Given the description of an element on the screen output the (x, y) to click on. 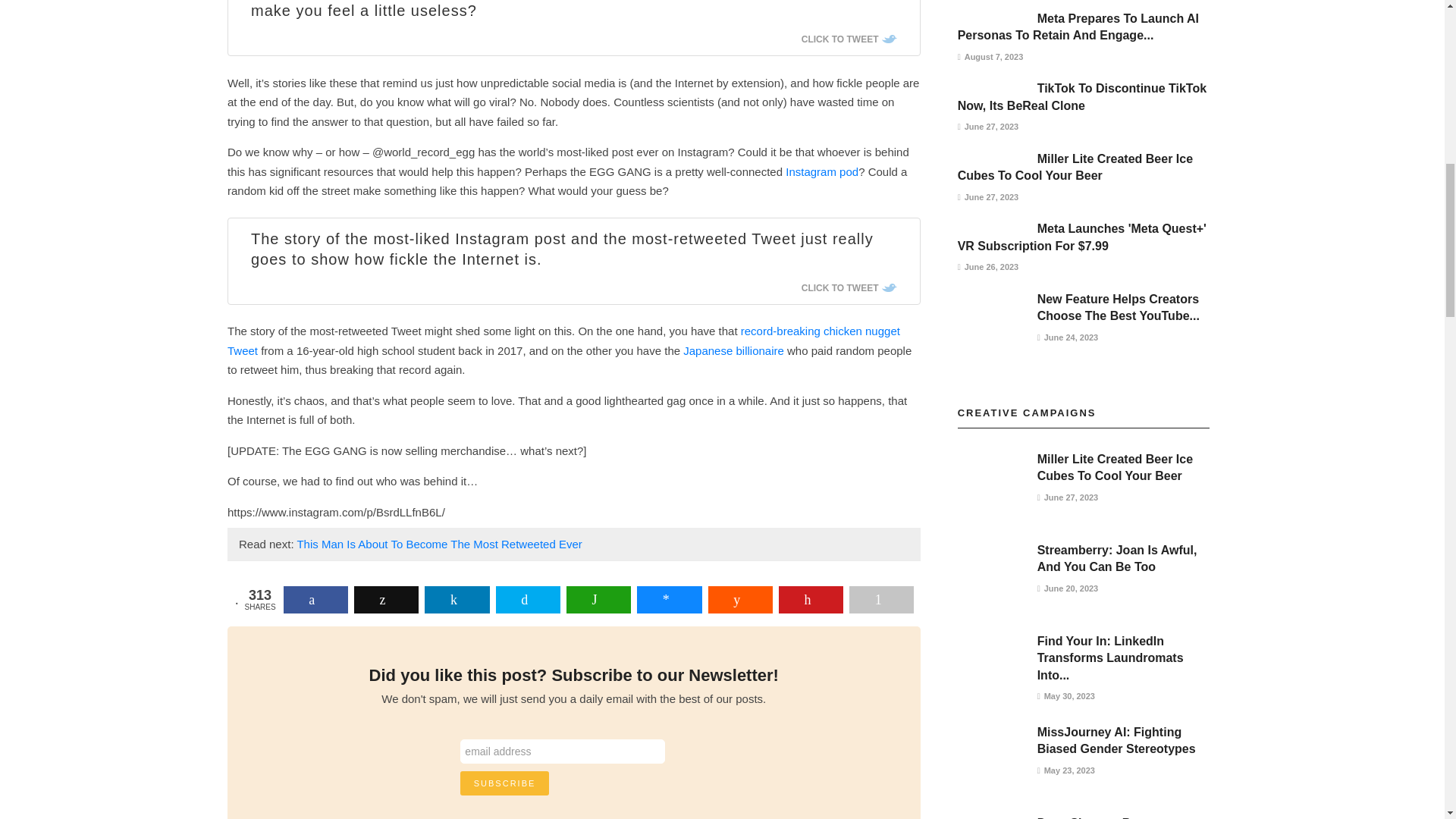
Subscribe (505, 783)
Share on Facebook (315, 599)
Share on LinkedIn (457, 599)
Share on Buffer (386, 599)
